Given the description of an element on the screen output the (x, y) to click on. 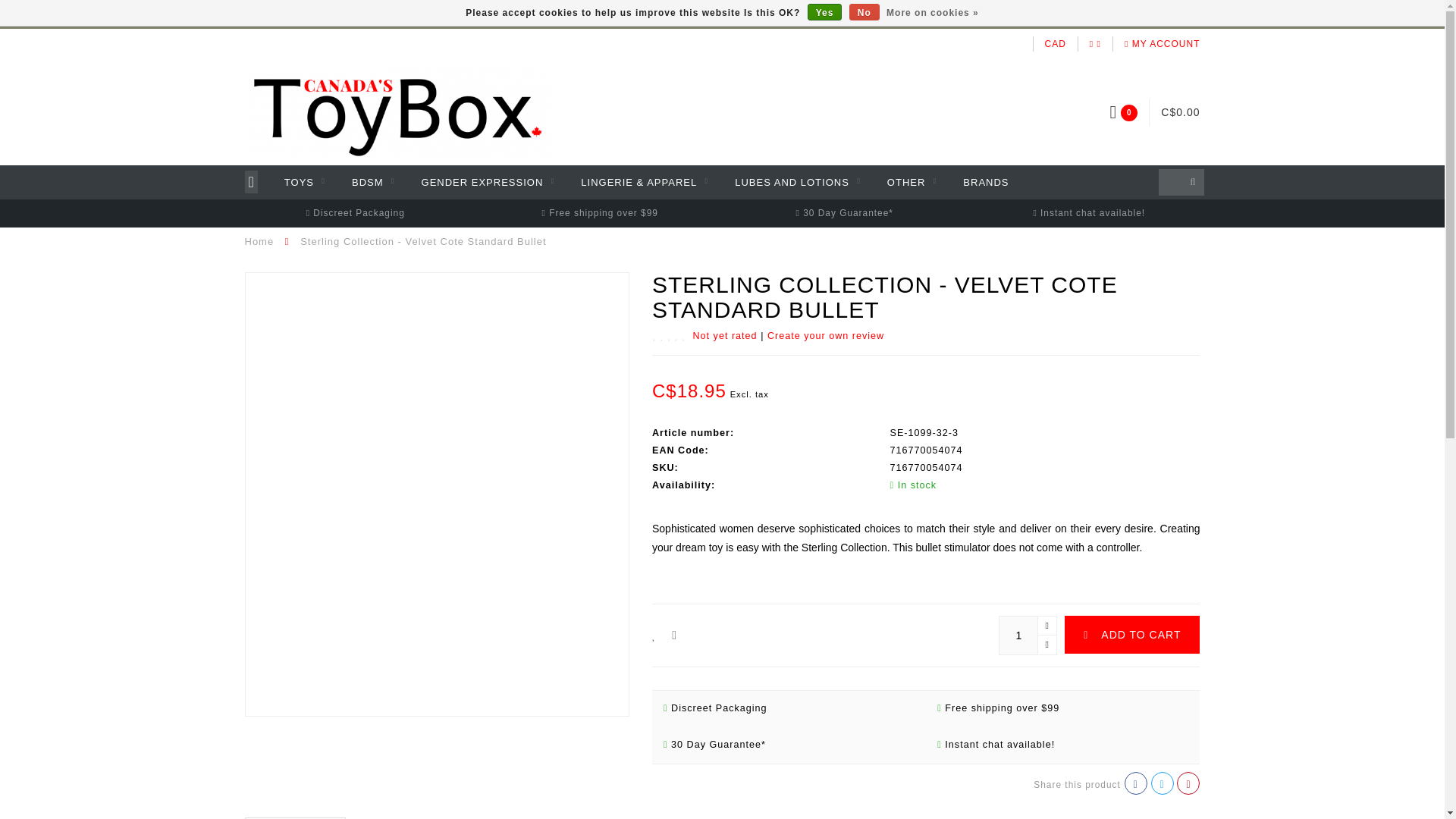
TOYS (303, 182)
CAD (1055, 43)
MY ACCOUNT (1161, 43)
Home (258, 241)
More on cookies (932, 13)
No (863, 12)
Yes (825, 12)
1 (1027, 635)
